Given the description of an element on the screen output the (x, y) to click on. 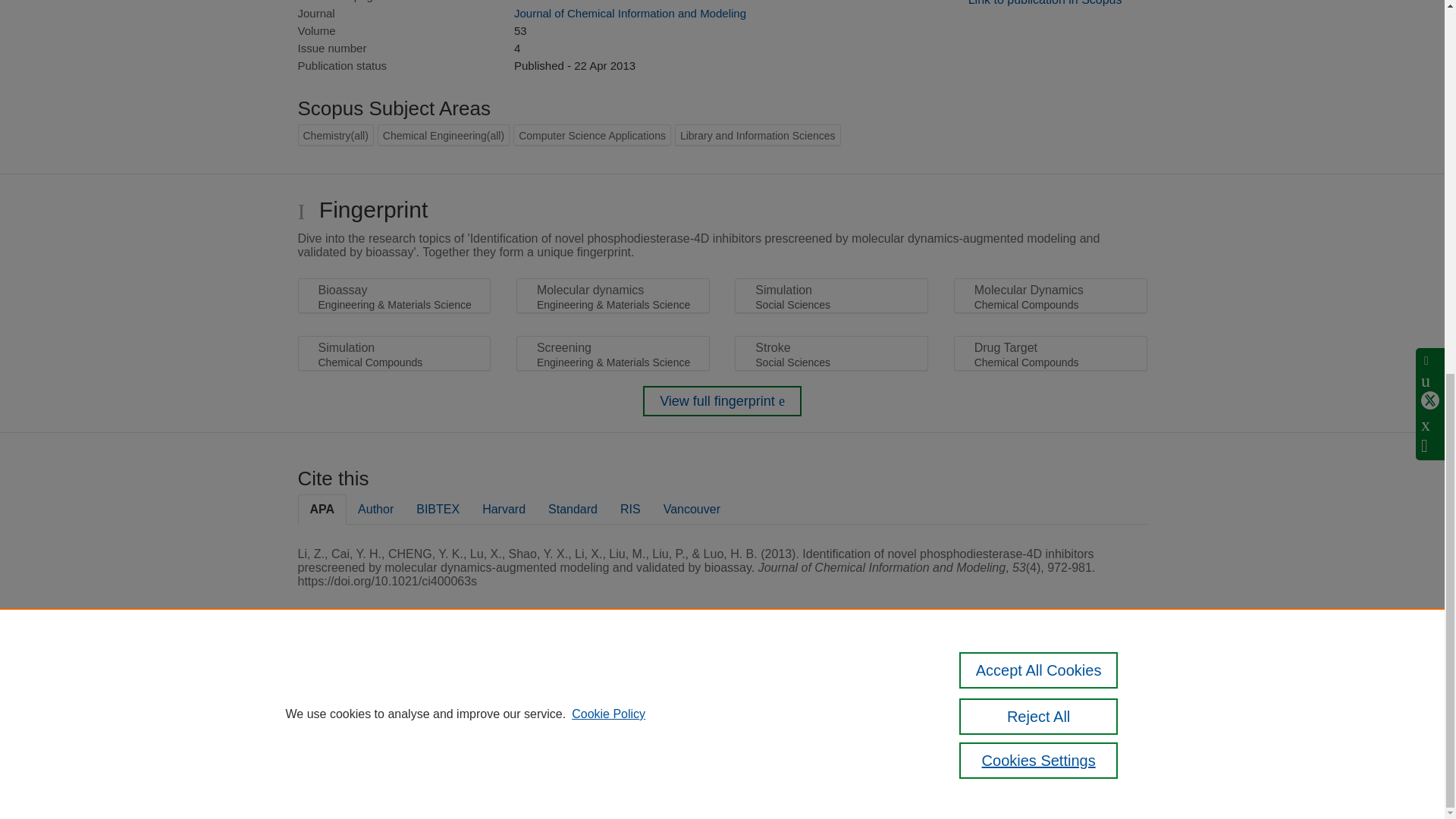
View full fingerprint (722, 400)
Pure (362, 686)
Journal of Chemical Information and Modeling (629, 12)
Link to publication in Scopus (1045, 2)
